Given the description of an element on the screen output the (x, y) to click on. 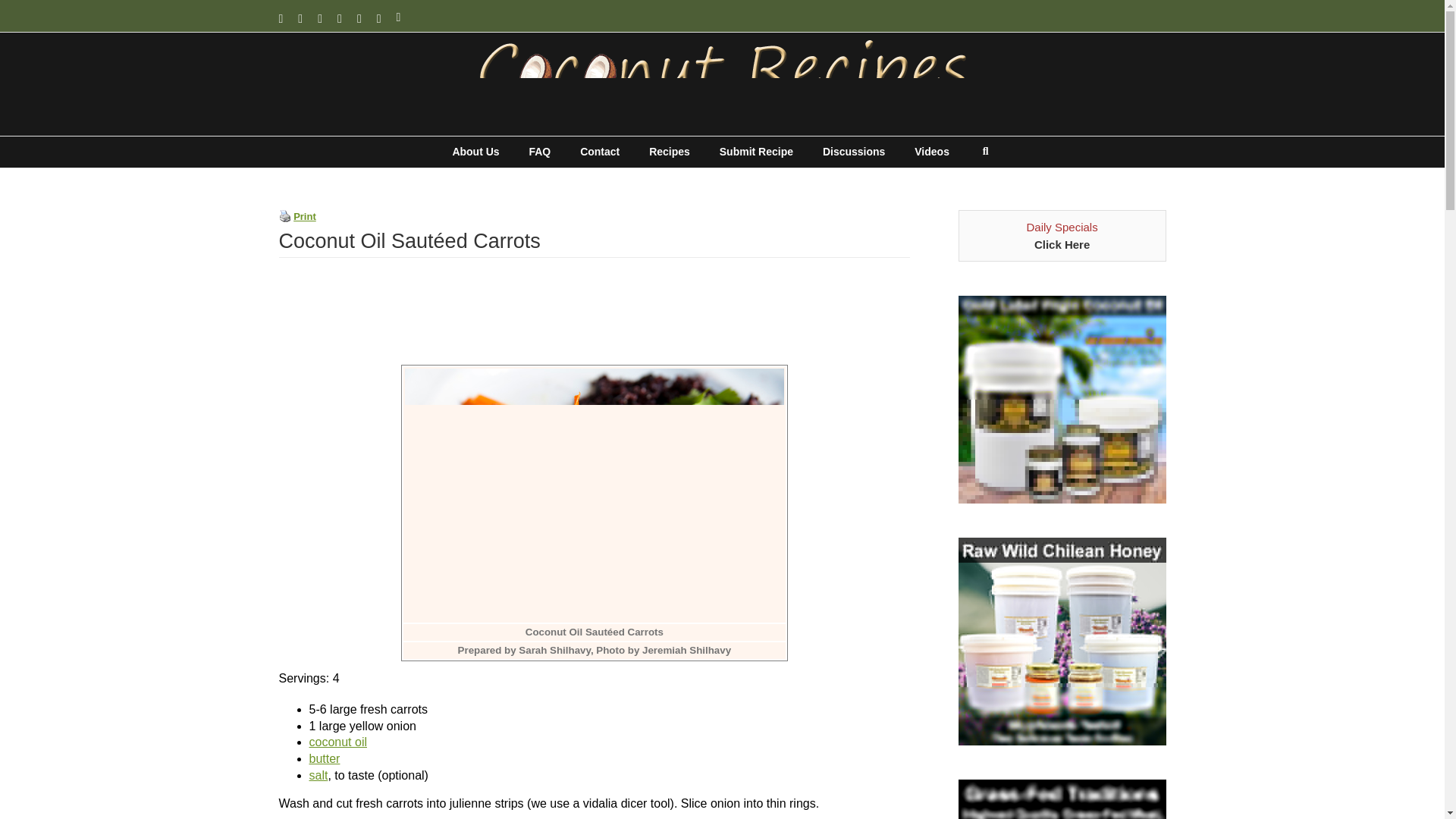
Submit Recipe (756, 151)
Print (285, 215)
Videos (931, 151)
About Us (475, 151)
Contact (599, 151)
Discussions (853, 151)
Print (285, 215)
Recipes (669, 151)
Print (304, 215)
